Given the description of an element on the screen output the (x, y) to click on. 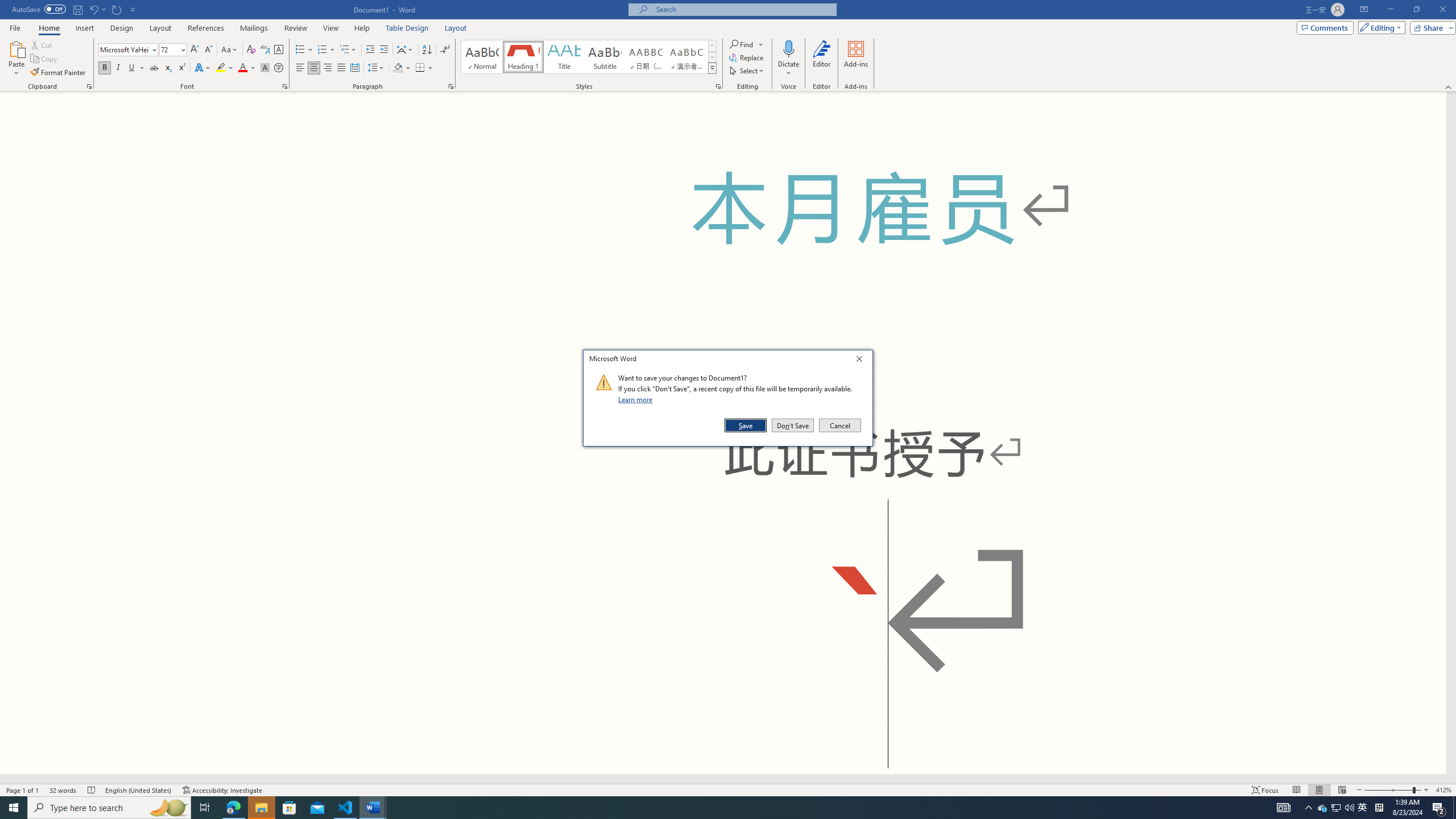
Undo Grow Font (92, 9)
Undo Grow Font (1362, 807)
Zoom 412% (96, 9)
